Given the description of an element on the screen output the (x, y) to click on. 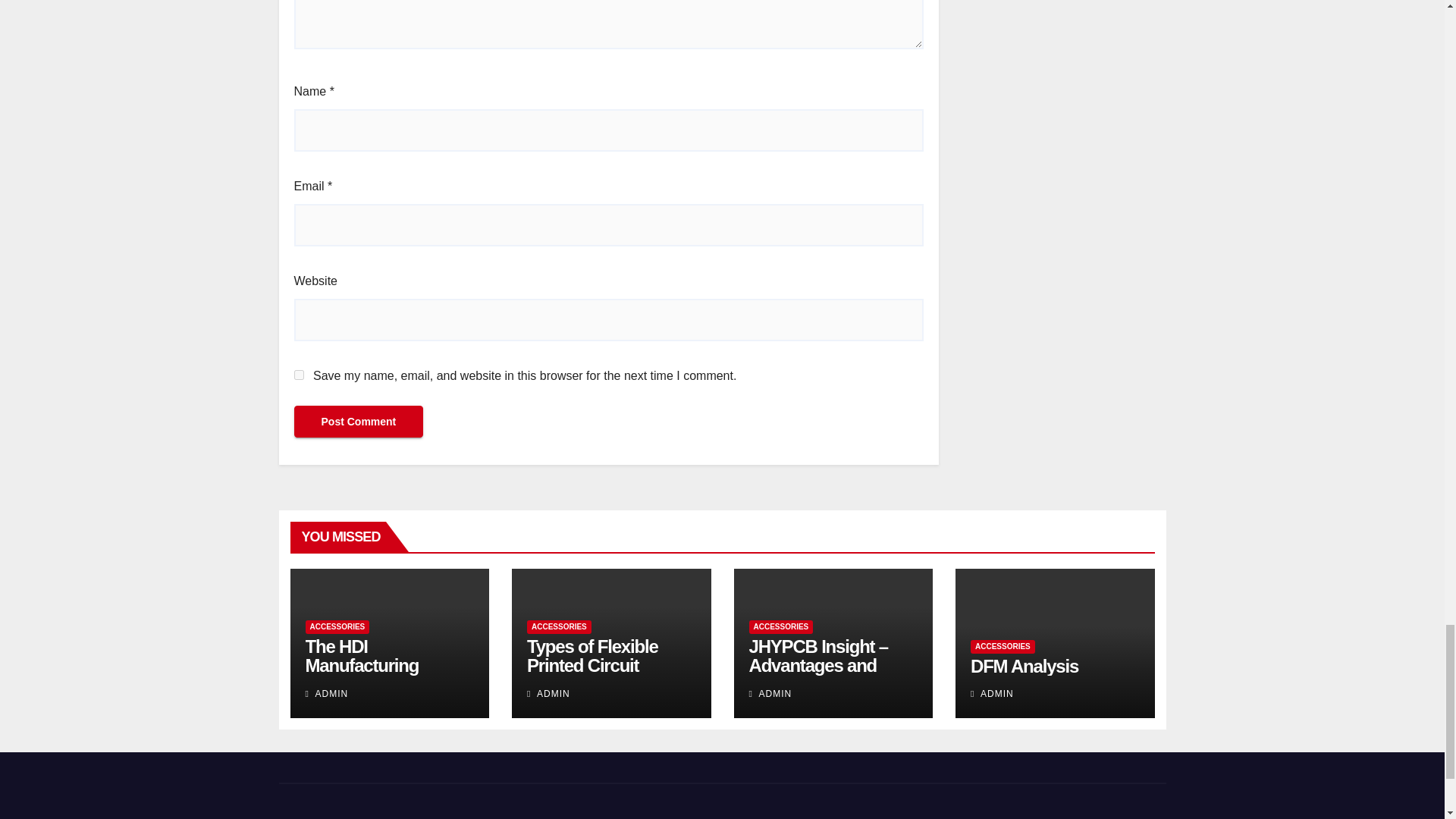
Permalink to: The HDI Manufacturing Process (361, 665)
yes (299, 375)
Post Comment (358, 421)
Post Comment (358, 421)
